Given the description of an element on the screen output the (x, y) to click on. 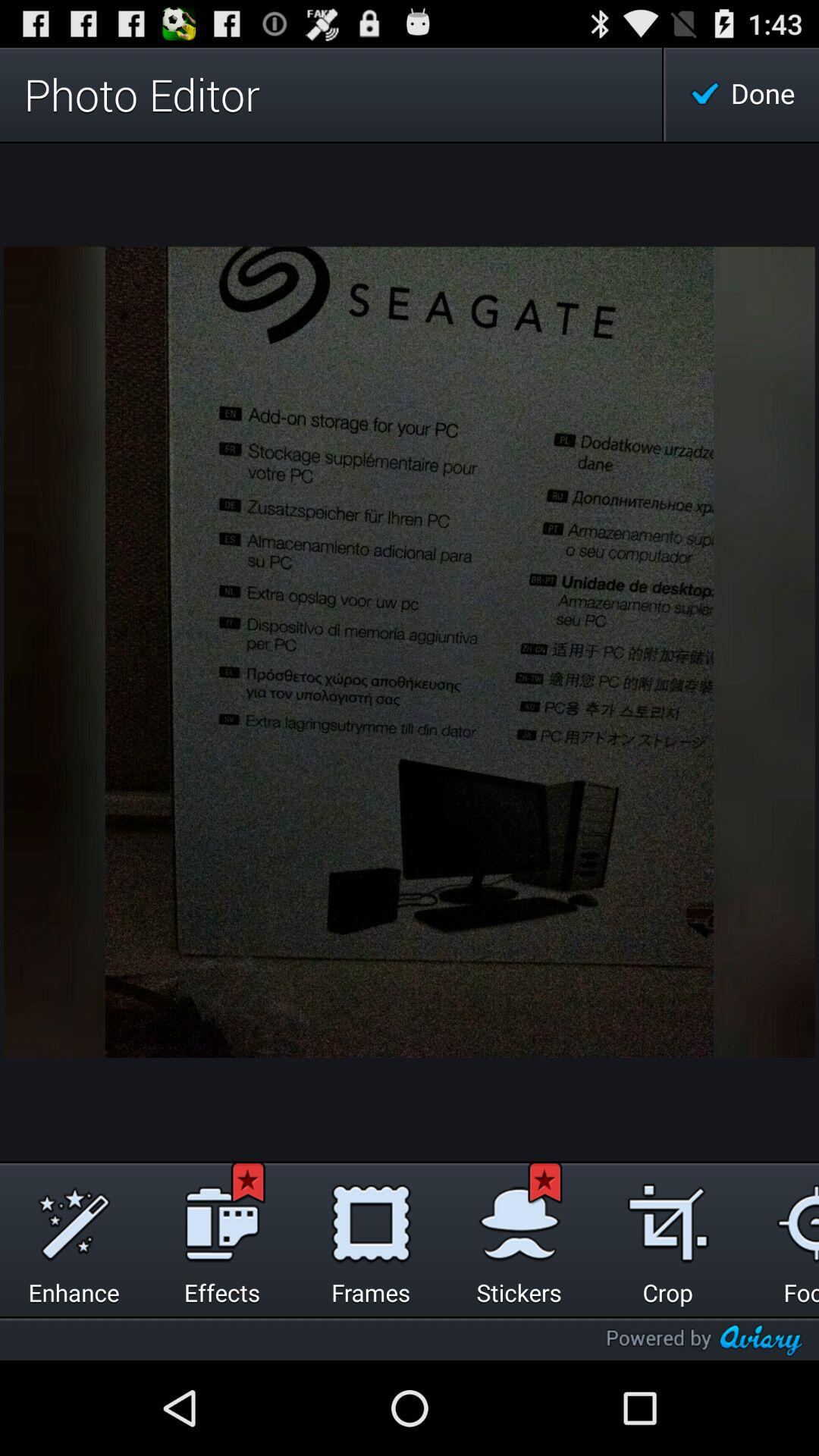
scroll until the done icon (742, 93)
